Given the description of an element on the screen output the (x, y) to click on. 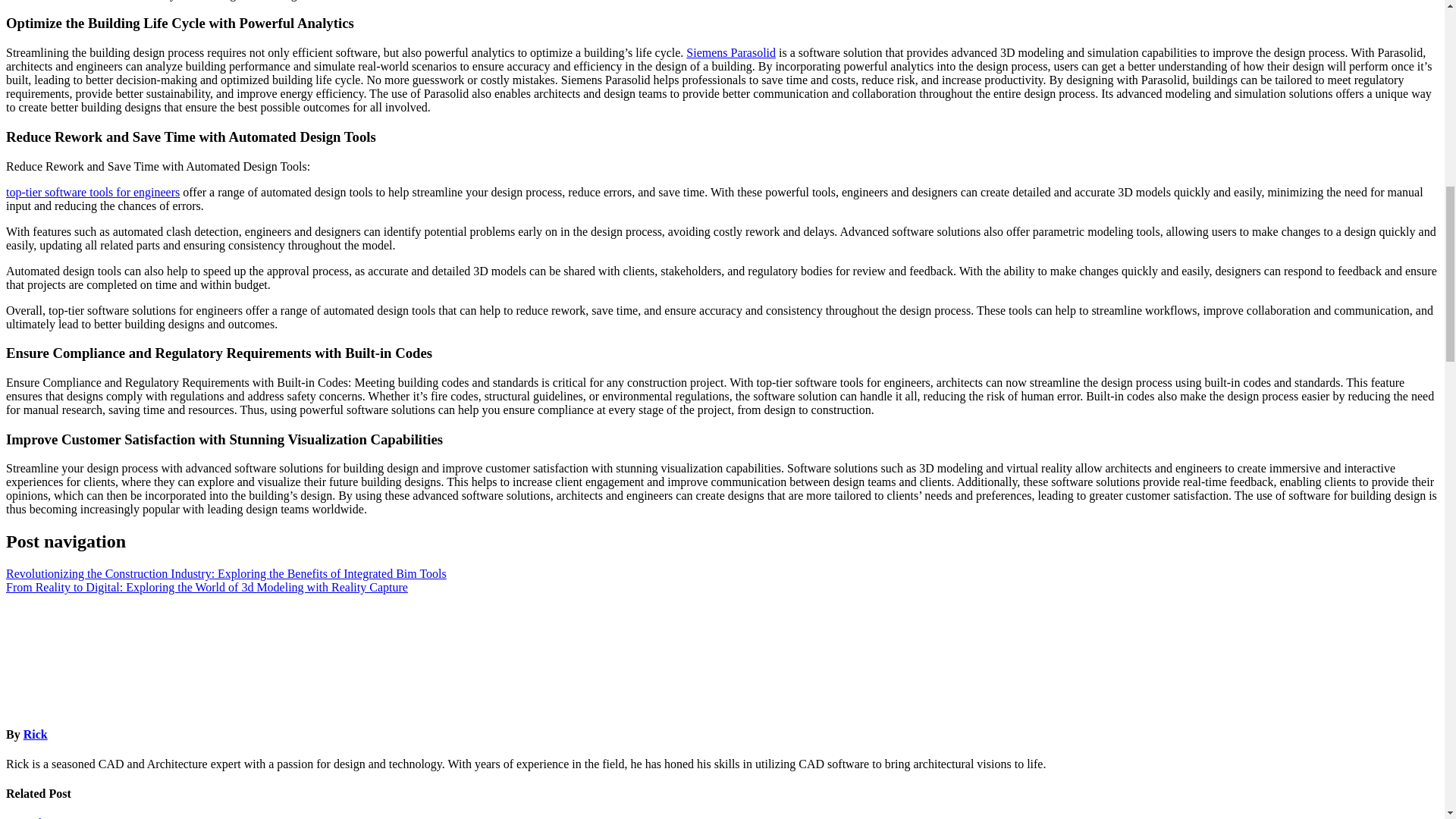
top-tier software tools for engineers (92, 192)
Siemens Parasolid (730, 51)
general (23, 817)
Rick (35, 734)
